Given the description of an element on the screen output the (x, y) to click on. 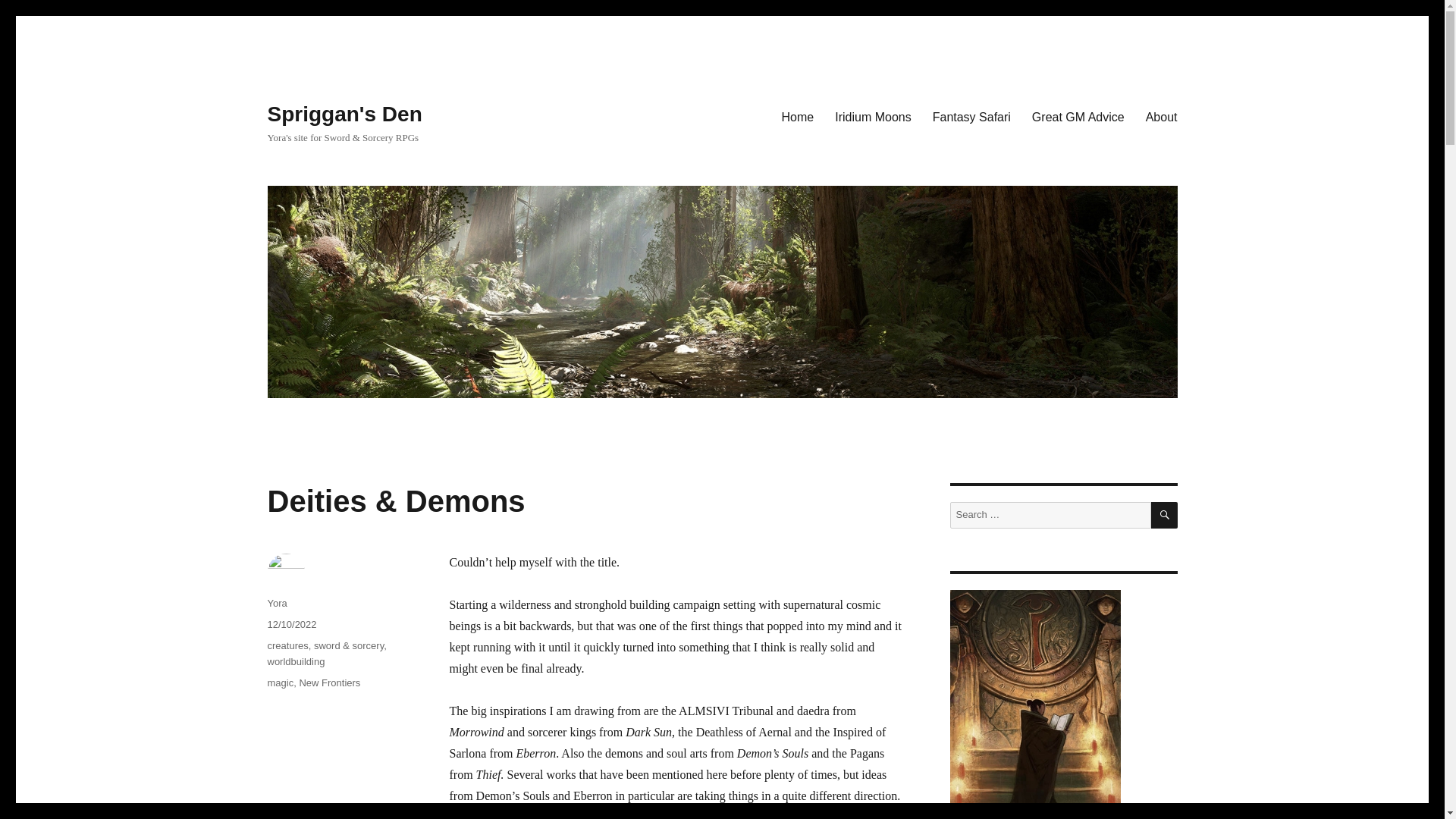
Iridium Moons (872, 116)
worldbuilding (295, 661)
Spriggan's Den (344, 114)
Yora (276, 603)
Home (798, 116)
About (1161, 116)
Fantasy Safari (971, 116)
New Frontiers (328, 682)
creatures (286, 645)
SEARCH (1164, 515)
magic (280, 682)
Great GM Advice (1078, 116)
